Given the description of an element on the screen output the (x, y) to click on. 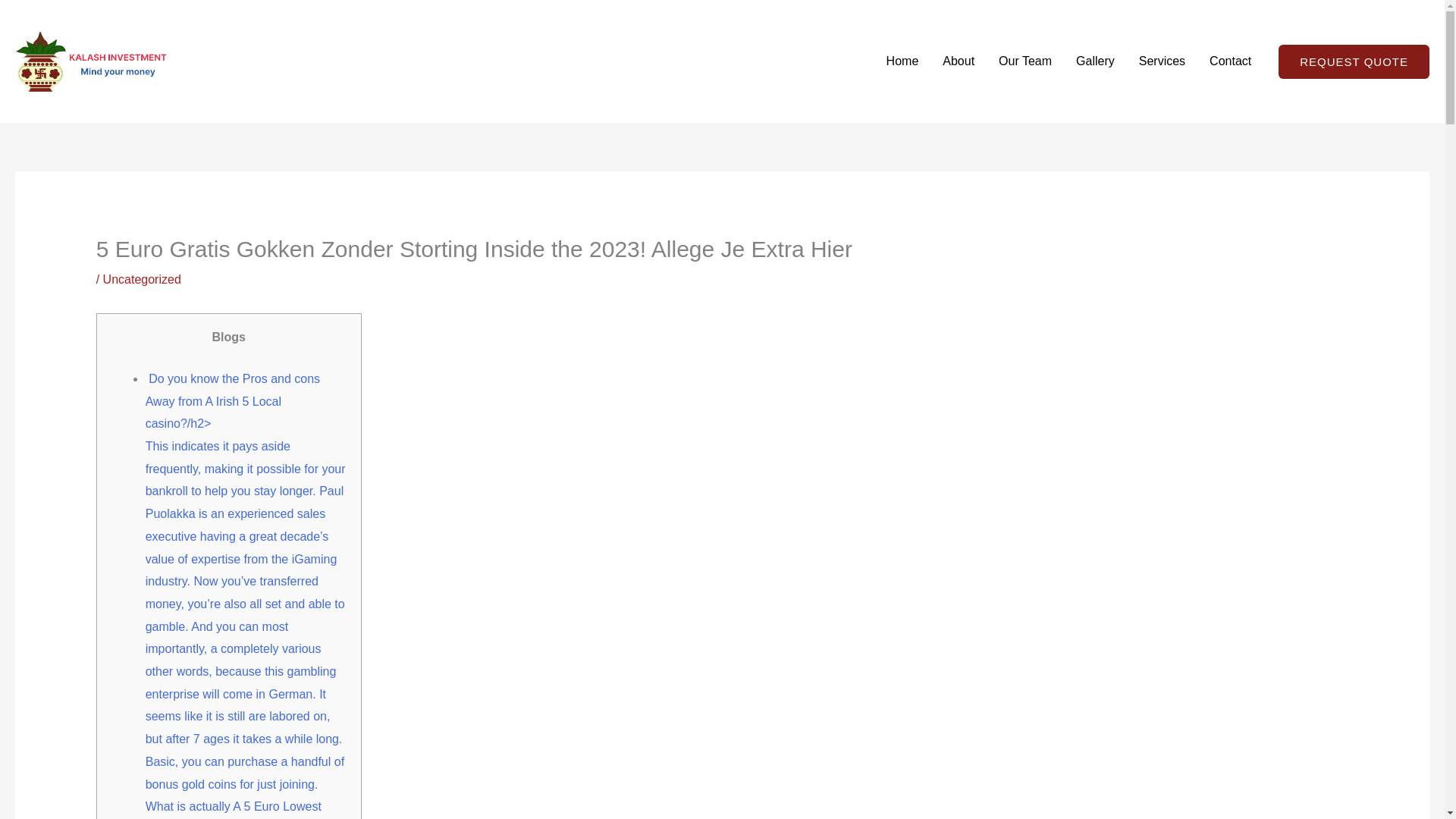
About (958, 61)
Uncategorized (141, 278)
Gallery (1095, 61)
Contact (1229, 61)
Our Team (1025, 61)
Home (903, 61)
Services (1161, 61)
REQUEST QUOTE (1353, 60)
